Given the description of an element on the screen output the (x, y) to click on. 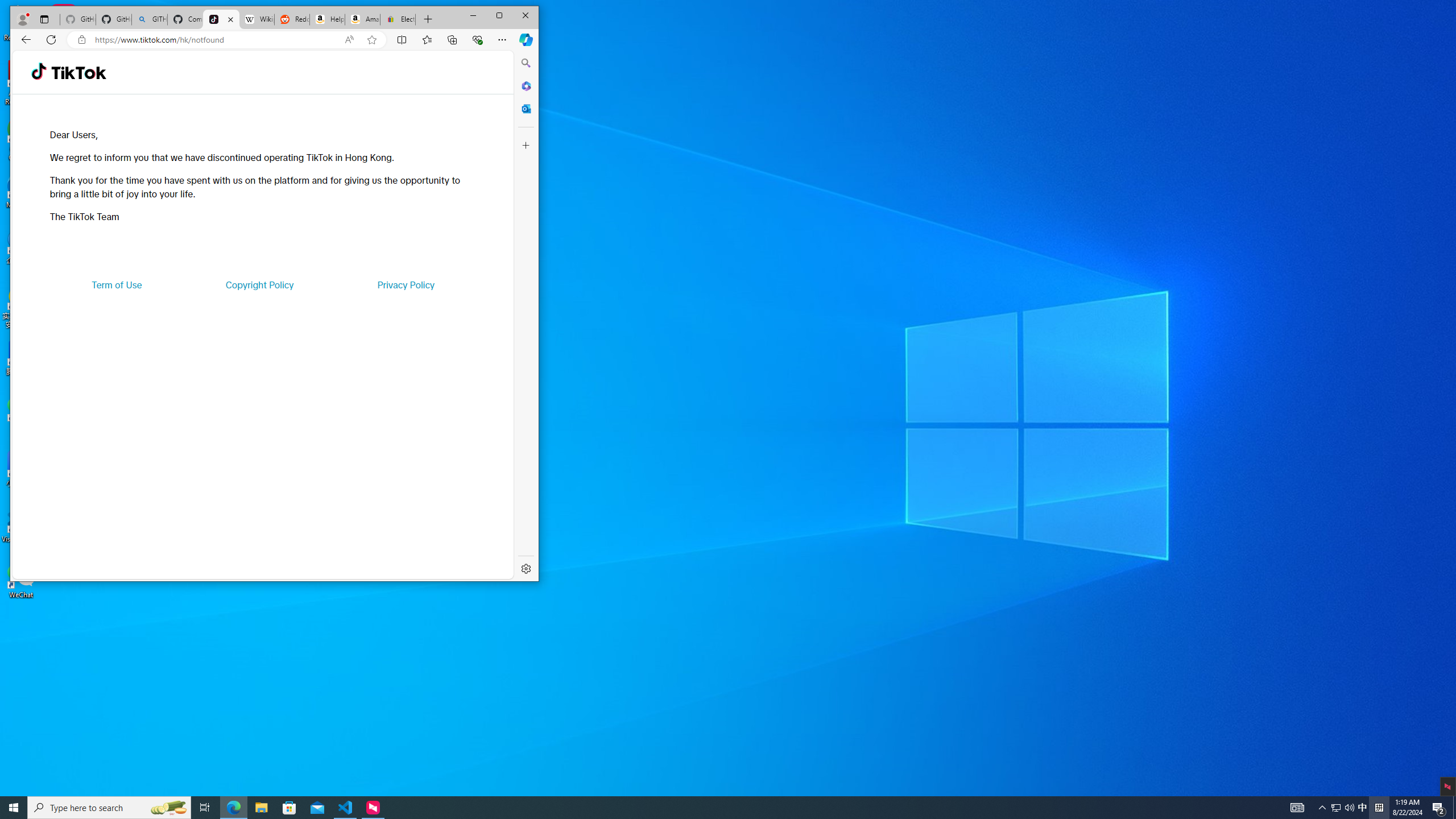
Search highlights icon opens search home window (167, 807)
Term of Use (116, 284)
TikTok (78, 72)
File Explorer (261, 807)
Privacy Policy (405, 284)
Amazon.com: Deals (362, 19)
AutomationID: 4105 (1297, 807)
Task View (204, 807)
